Given the description of an element on the screen output the (x, y) to click on. 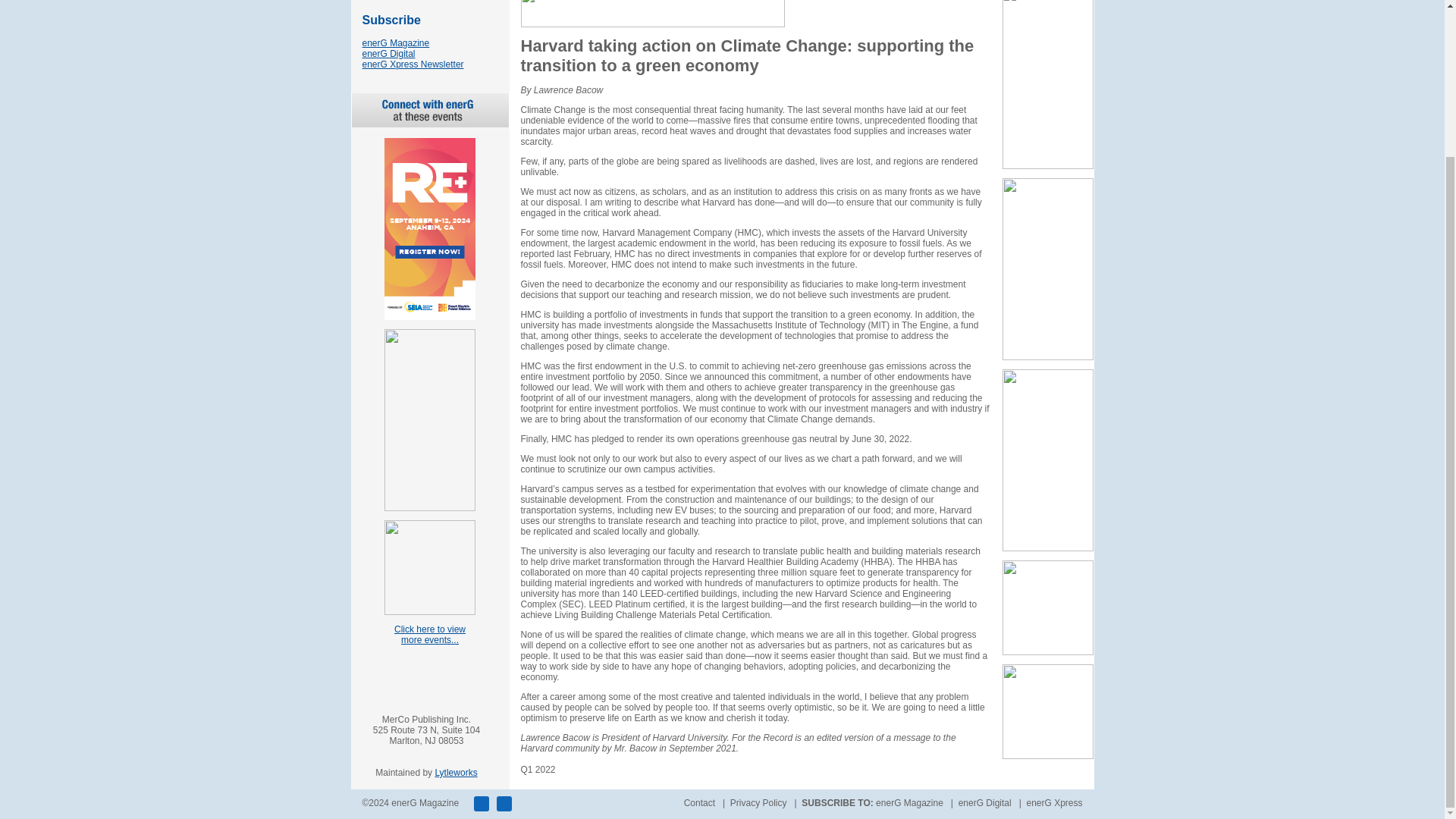
Privacy Policy (758, 802)
Subscribe to enerG Magazine (395, 42)
enerG Digital (984, 802)
Subscribe (391, 20)
Lytleworks (455, 772)
enerG Xpress Newsletter (413, 63)
Subscribe to enerG Magazine (391, 20)
Contact (699, 802)
Subscribe to enerG Digital (984, 802)
enerG Digital (388, 53)
